Given the description of an element on the screen output the (x, y) to click on. 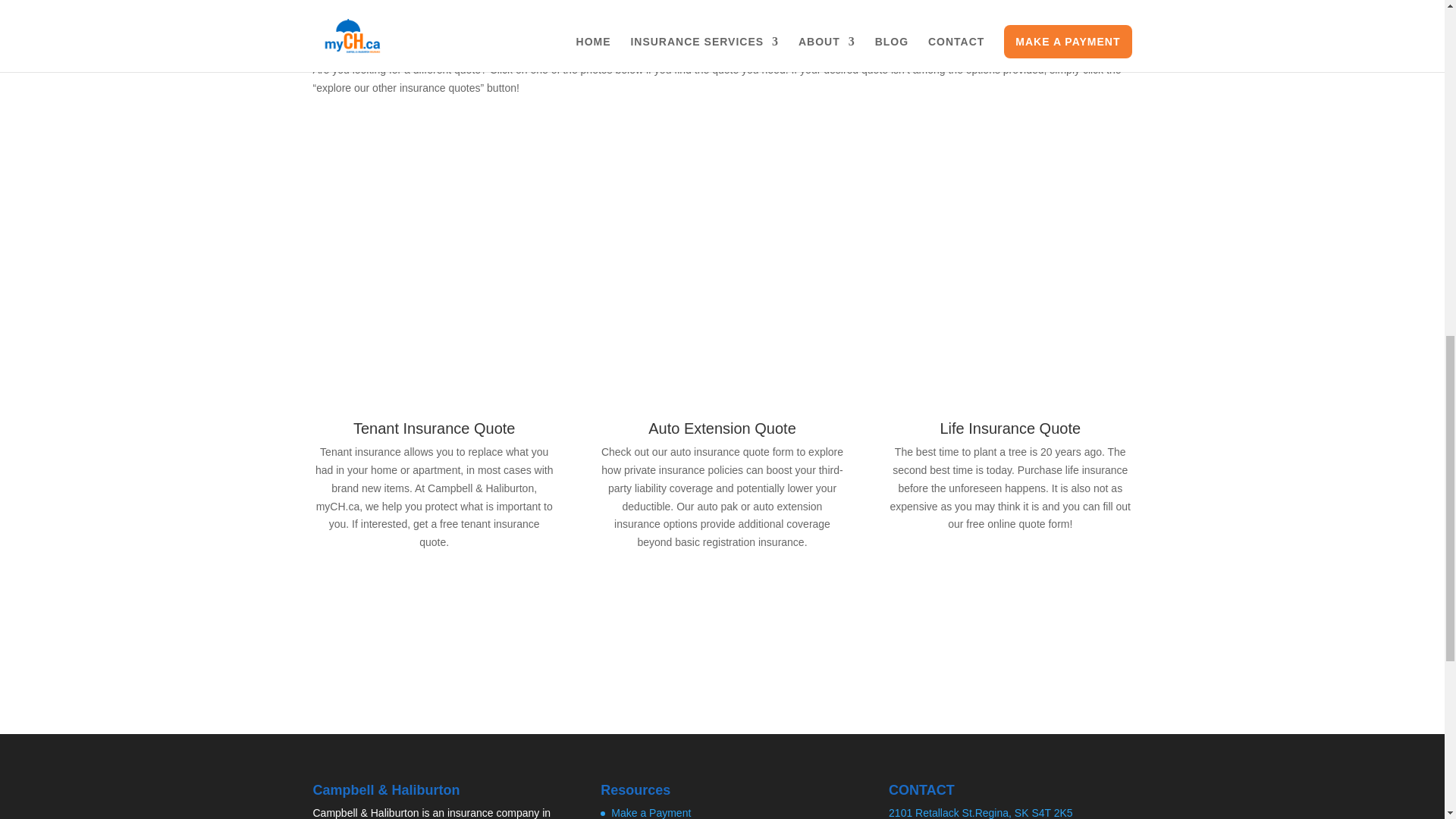
Make a Payment (650, 812)
Explore our other insurance quotes (722, 628)
2101 Retallack St.Regina, SK S4T 2K5 (980, 812)
